Given the description of an element on the screen output the (x, y) to click on. 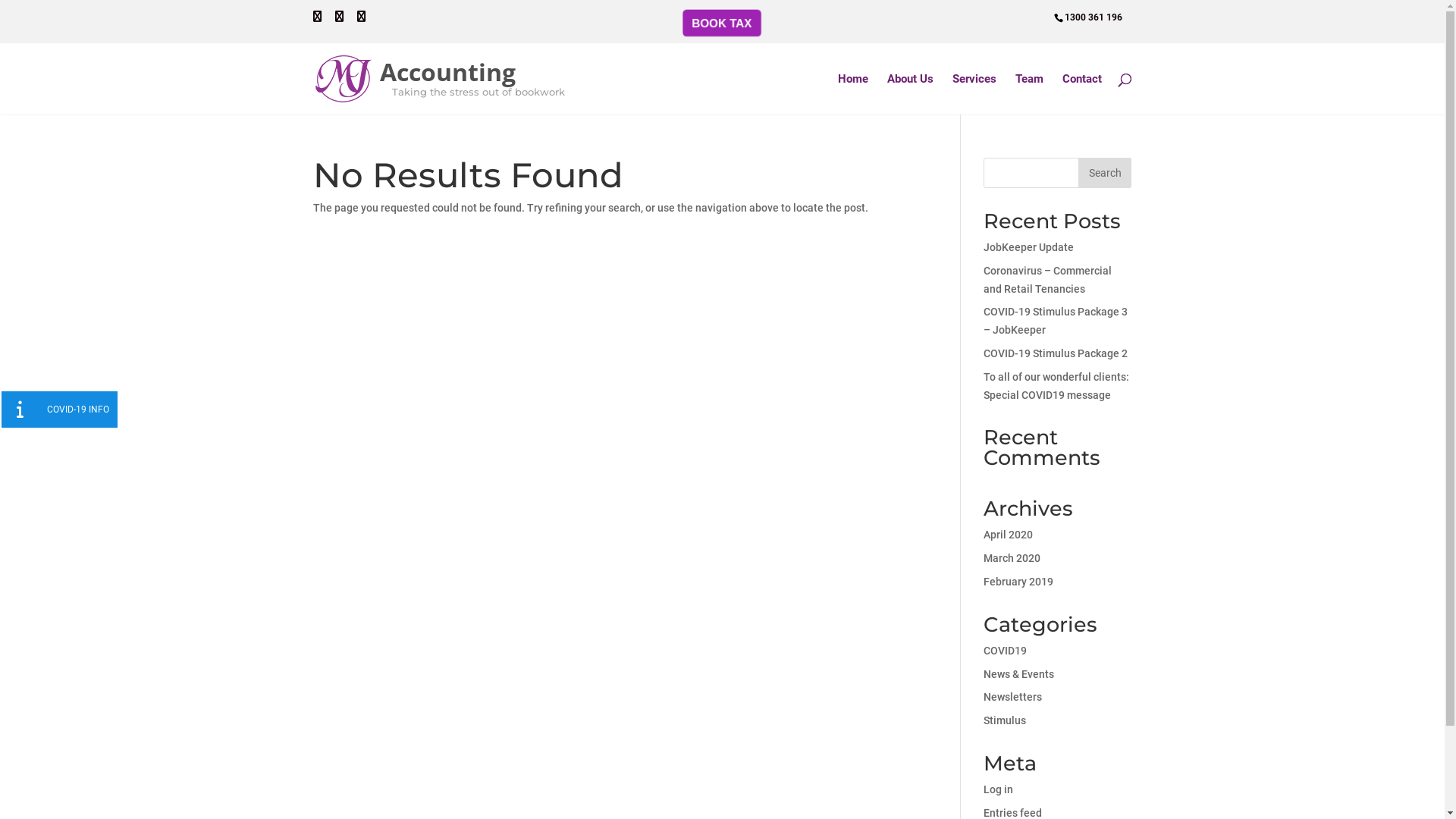
Team Element type: text (1028, 93)
February 2019 Element type: text (1018, 581)
JobKeeper Update Element type: text (1028, 247)
Contact Element type: text (1081, 93)
COVID19 Element type: text (1004, 650)
COVID-19 Stimulus Package 2 Element type: text (1055, 353)
Services Element type: text (974, 93)
Newsletters Element type: text (1012, 696)
Stimulus Element type: text (1004, 720)
Accounting
Taking the stress out of bookwork Element type: text (439, 77)
News & Events Element type: text (1018, 674)
COVID-19 INFO Element type: text (19, 409)
About Us Element type: text (910, 93)
Search Element type: text (1104, 172)
March 2020 Element type: text (1011, 558)
Log in Element type: text (998, 789)
April 2020 Element type: text (1007, 534)
BOOK TAX Element type: text (722, 22)
Home Element type: text (852, 93)
To all of our wonderful clients: Special COVID19 message Element type: text (1056, 385)
